Given the description of an element on the screen output the (x, y) to click on. 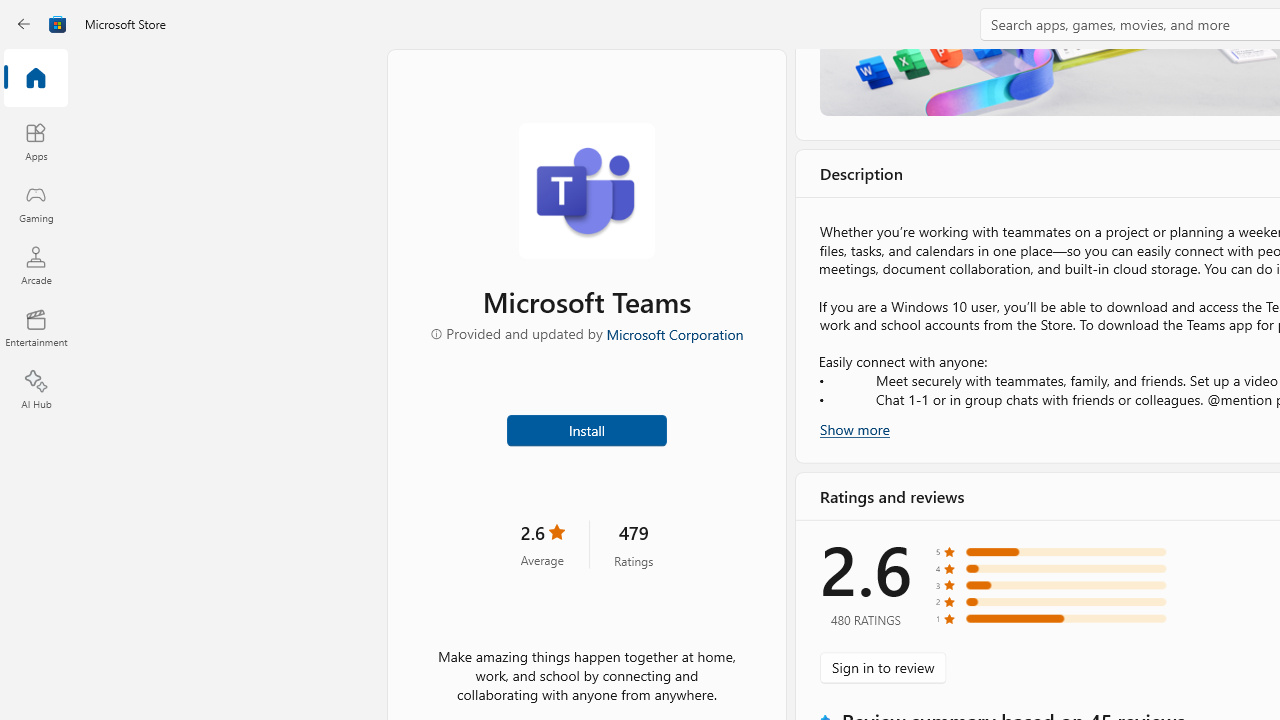
AI Hub (35, 390)
Apps (35, 141)
Sign in to review (882, 667)
Arcade (35, 265)
Gaming (35, 203)
Entertainment (35, 327)
Class: Image (27, 24)
Show more (854, 428)
Home (35, 79)
